Given the description of an element on the screen output the (x, y) to click on. 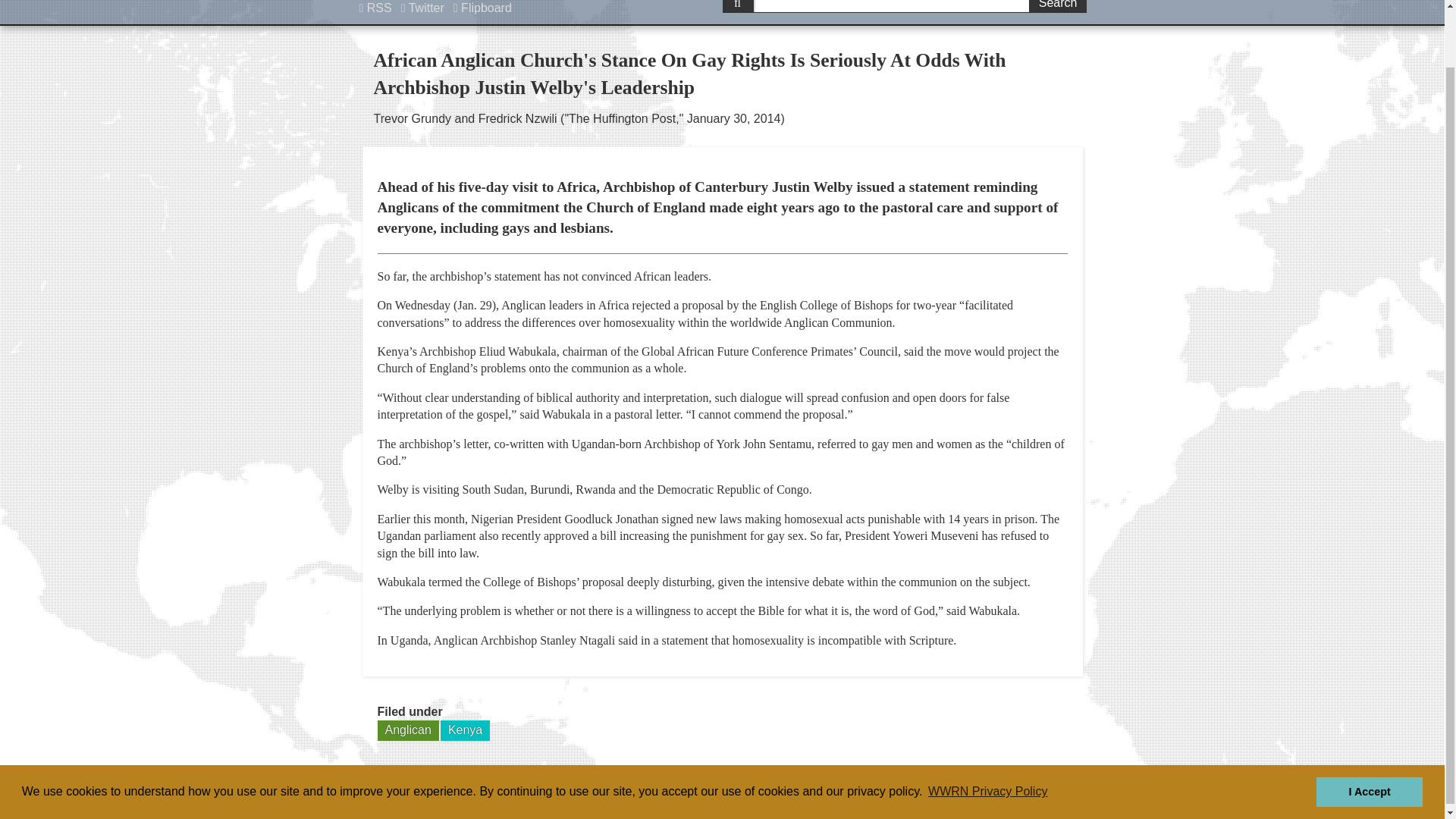
RELIGIONS (870, 796)
Anglican (408, 730)
REGIONS (962, 796)
ABOUT (785, 796)
Kenya (465, 730)
Search (1057, 6)
THEMES (1046, 796)
Twitter (422, 8)
I Accept (1369, 728)
Flipboard (482, 8)
